Given the description of an element on the screen output the (x, y) to click on. 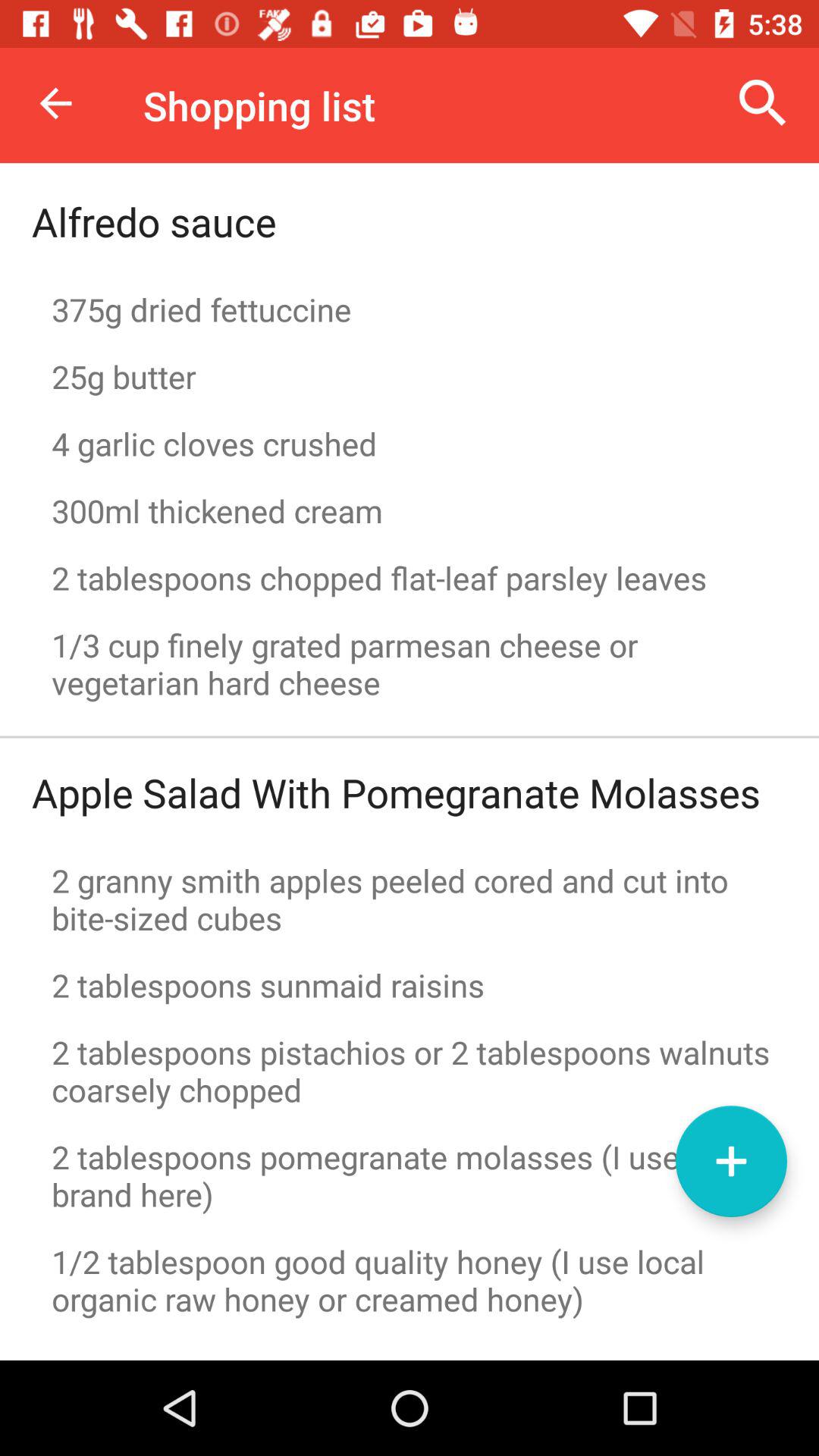
launch icon below 1 3 cup (409, 736)
